Given the description of an element on the screen output the (x, y) to click on. 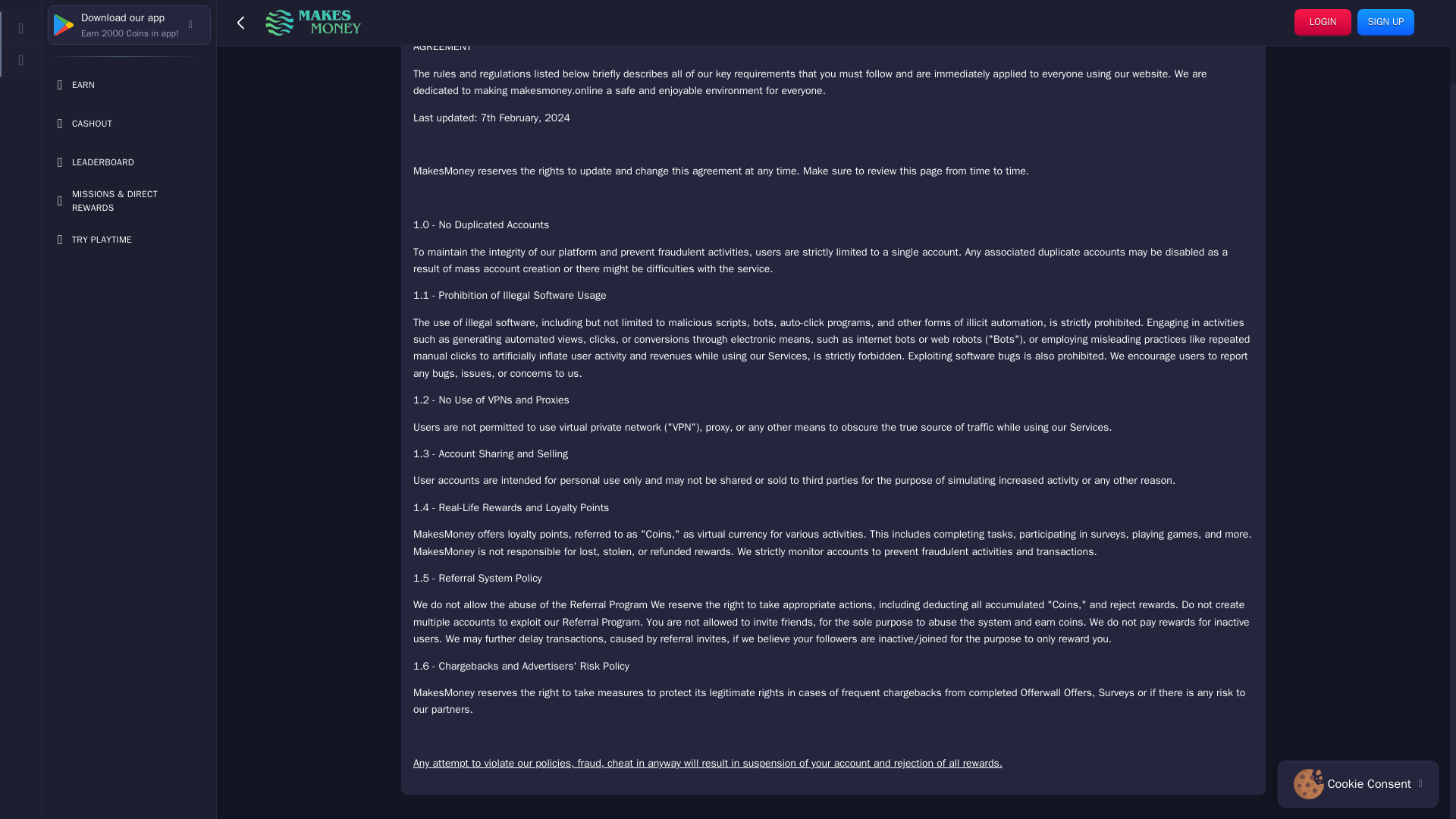
CASHOUT (128, 30)
EARN (128, 4)
TRY PLAYTIME (128, 146)
LEADERBOARD (128, 69)
